Given the description of an element on the screen output the (x, y) to click on. 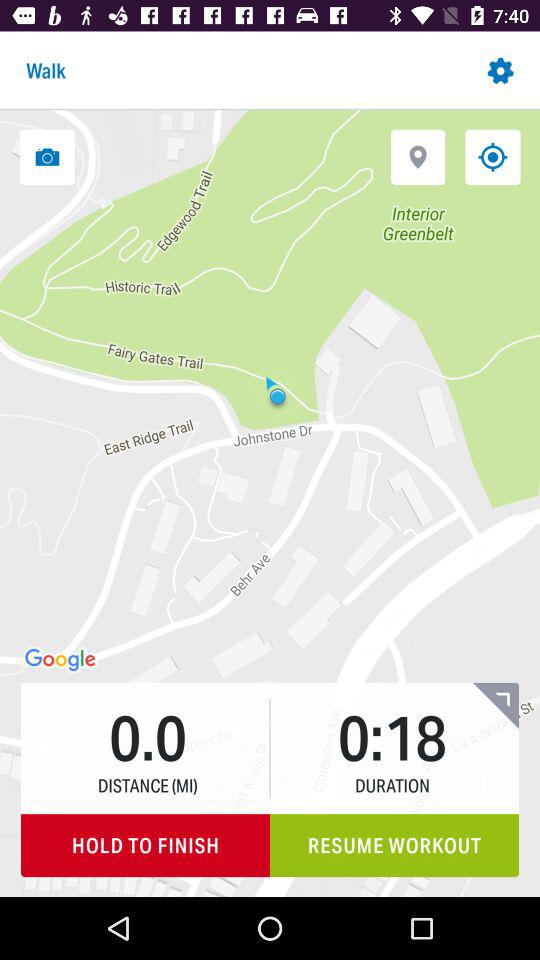
set waypoint (418, 156)
